Given the description of an element on the screen output the (x, y) to click on. 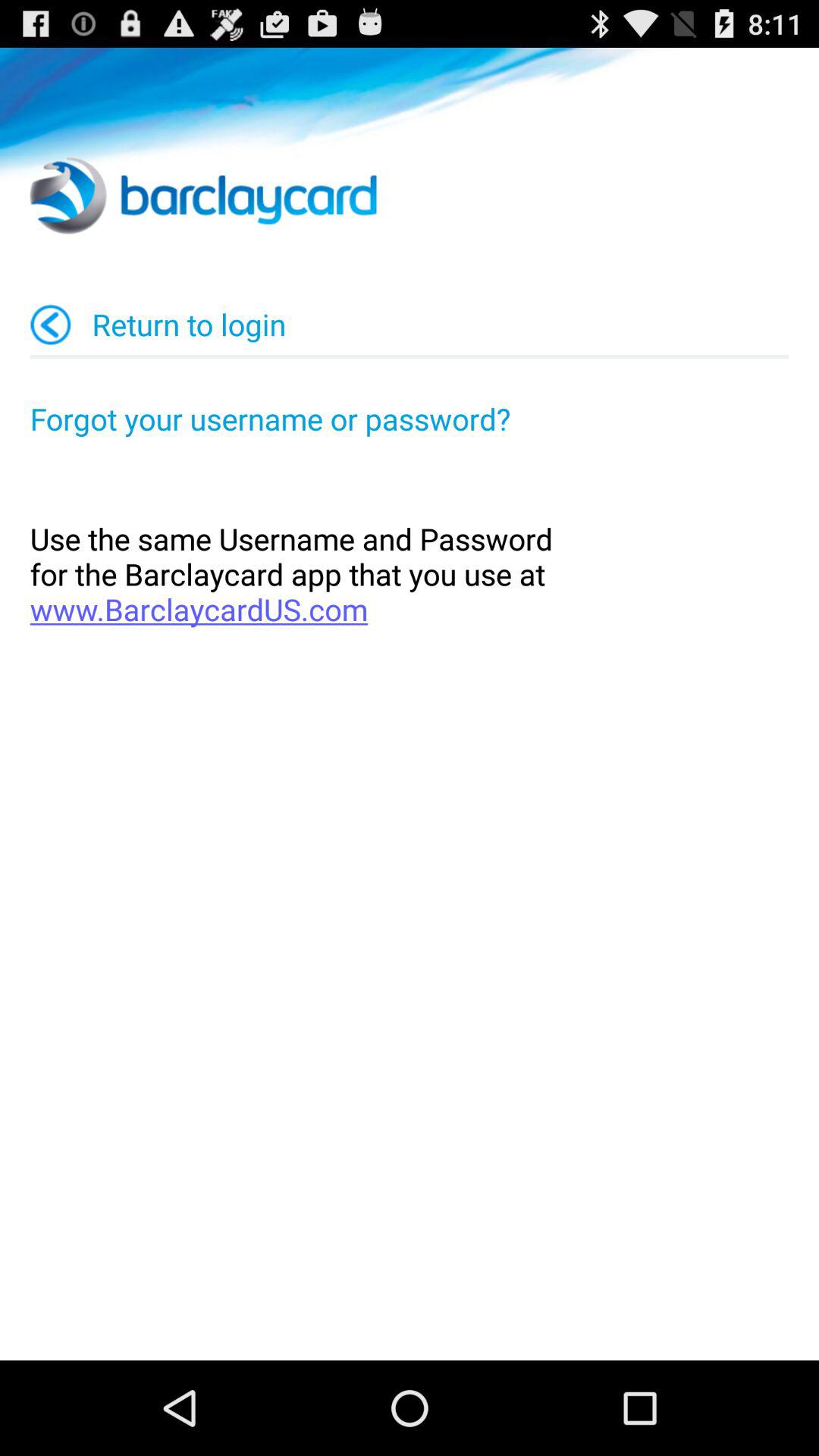
tap the item at the center (409, 573)
